Given the description of an element on the screen output the (x, y) to click on. 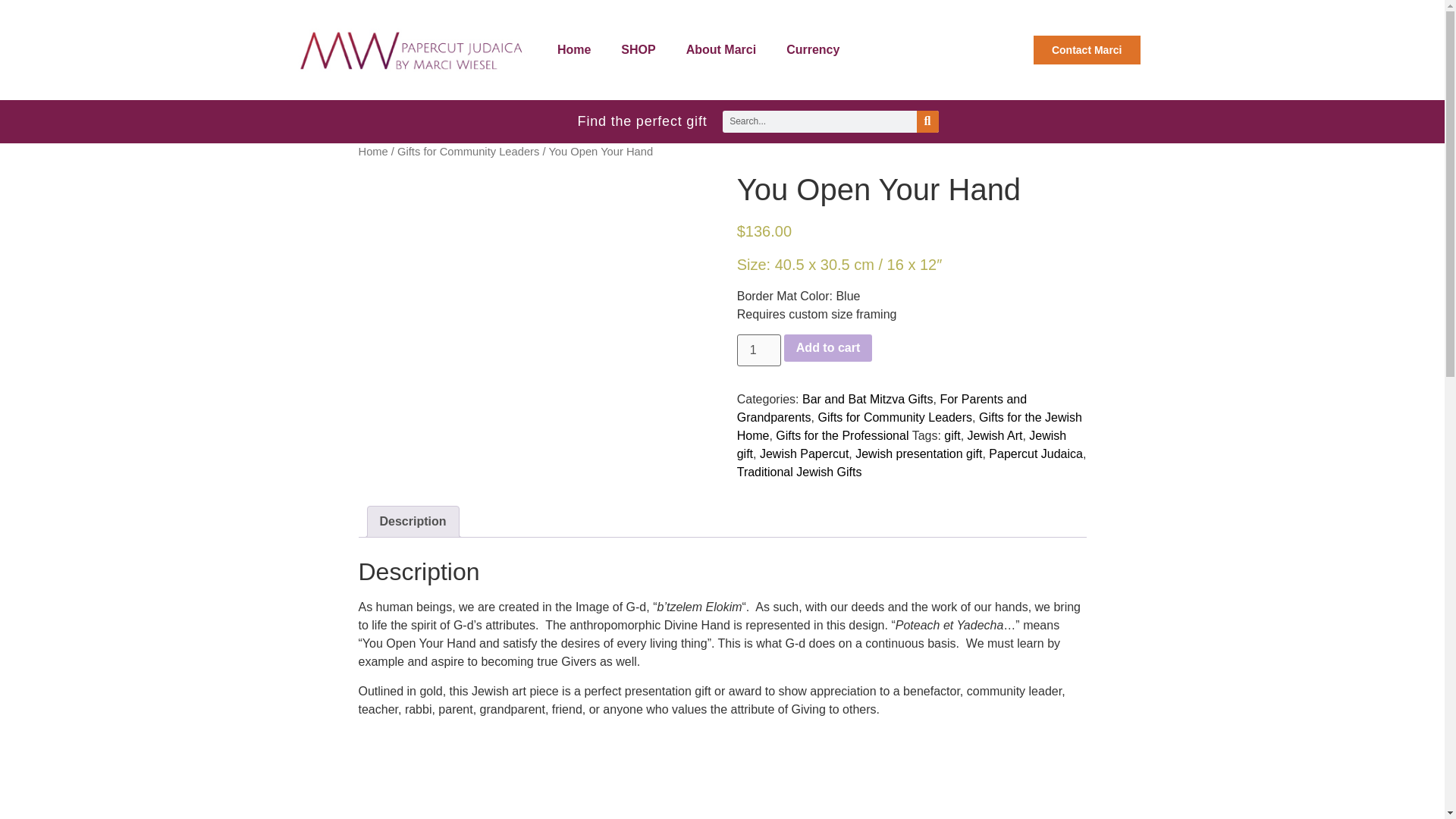
1 (758, 350)
SHOP (637, 49)
YouTube video player (517, 774)
Home (573, 49)
Currency (812, 49)
About Marci (721, 49)
